Given the description of an element on the screen output the (x, y) to click on. 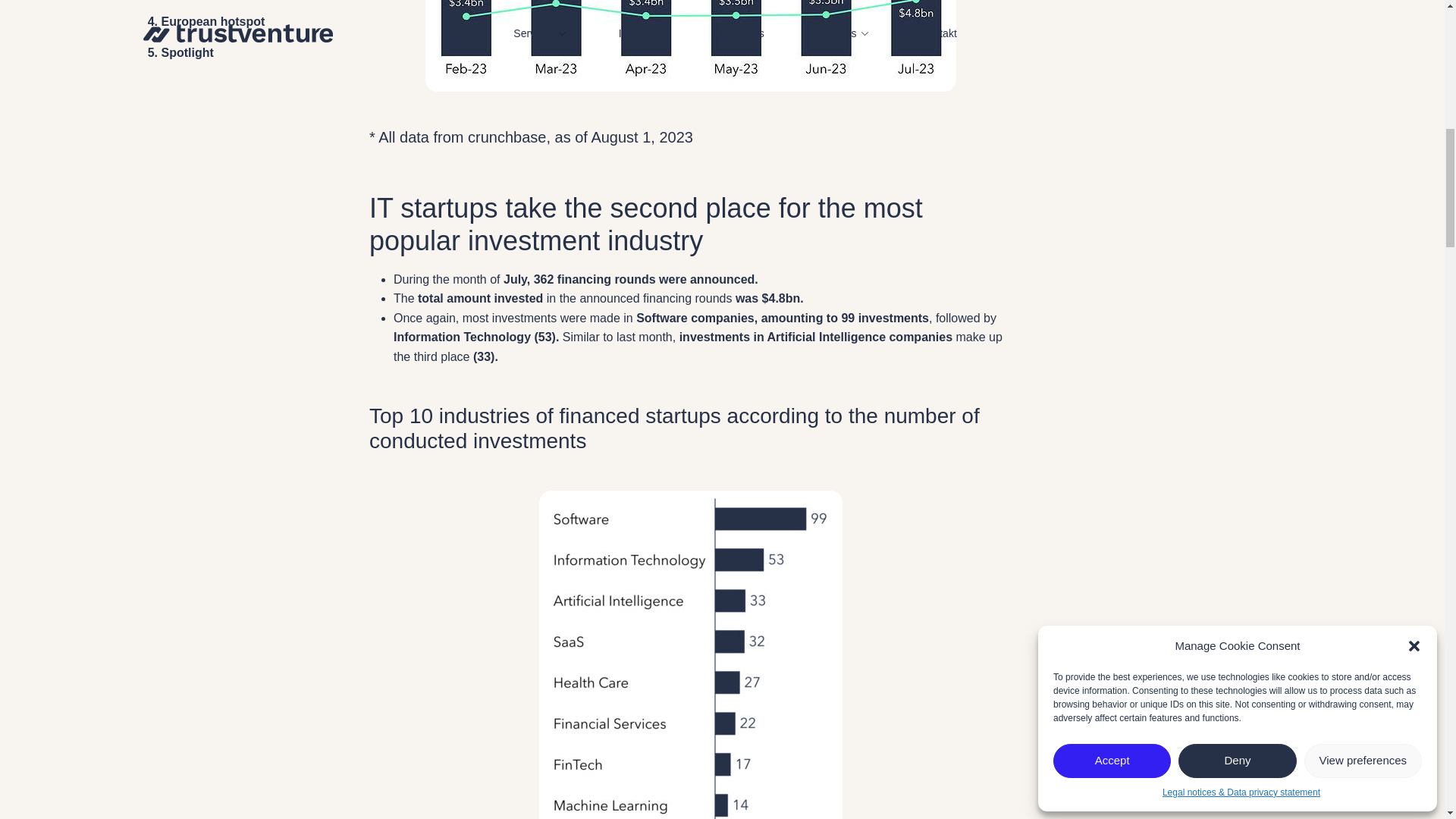
EVCL - July 2023 - 2 (690, 654)
